Given the description of an element on the screen output the (x, y) to click on. 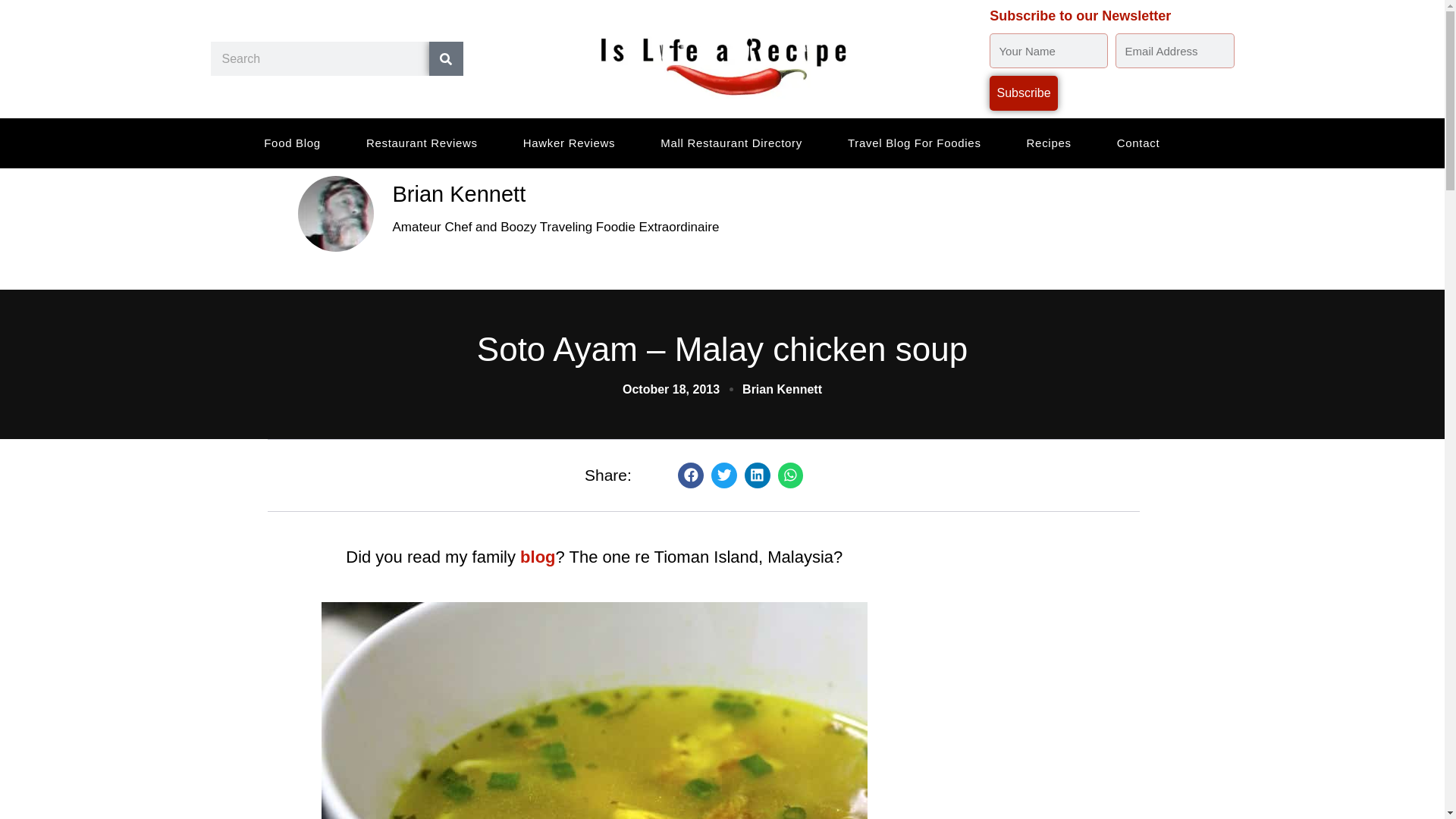
Search (446, 58)
Contact (1138, 143)
Mall Restaurant Directory (731, 143)
Subscribe (1024, 93)
Brian Kennett (770, 194)
Hawker Reviews (569, 143)
Travel Blog For Foodies (914, 143)
Restaurant Reviews (421, 143)
Recipes (1049, 143)
blog (536, 556)
blog (536, 556)
October 18, 2013 (671, 389)
Brian Kennett (782, 389)
Food Blog (292, 143)
